Given the description of an element on the screen output the (x, y) to click on. 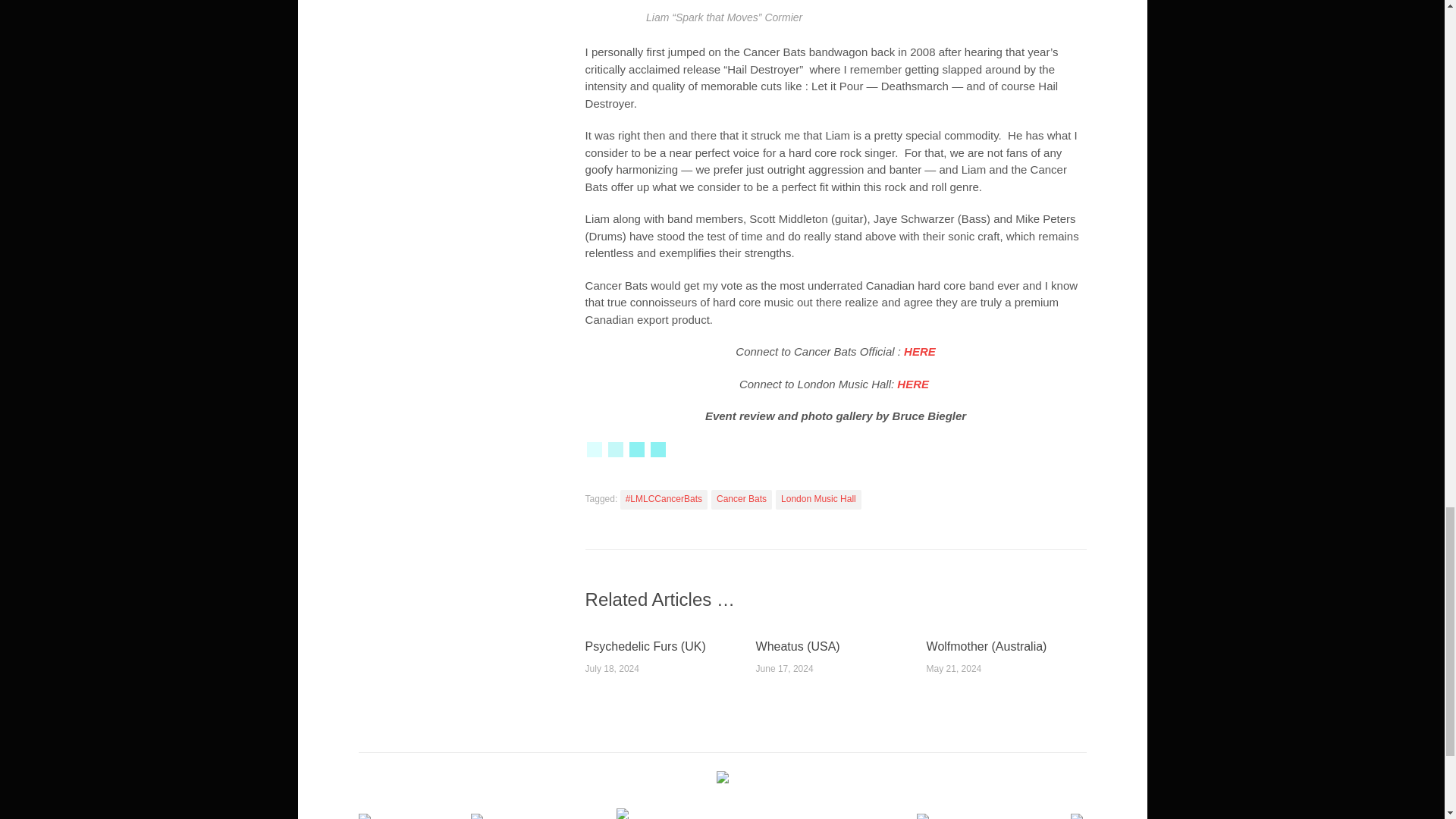
HERE (920, 350)
HERE (912, 383)
